Given the description of an element on the screen output the (x, y) to click on. 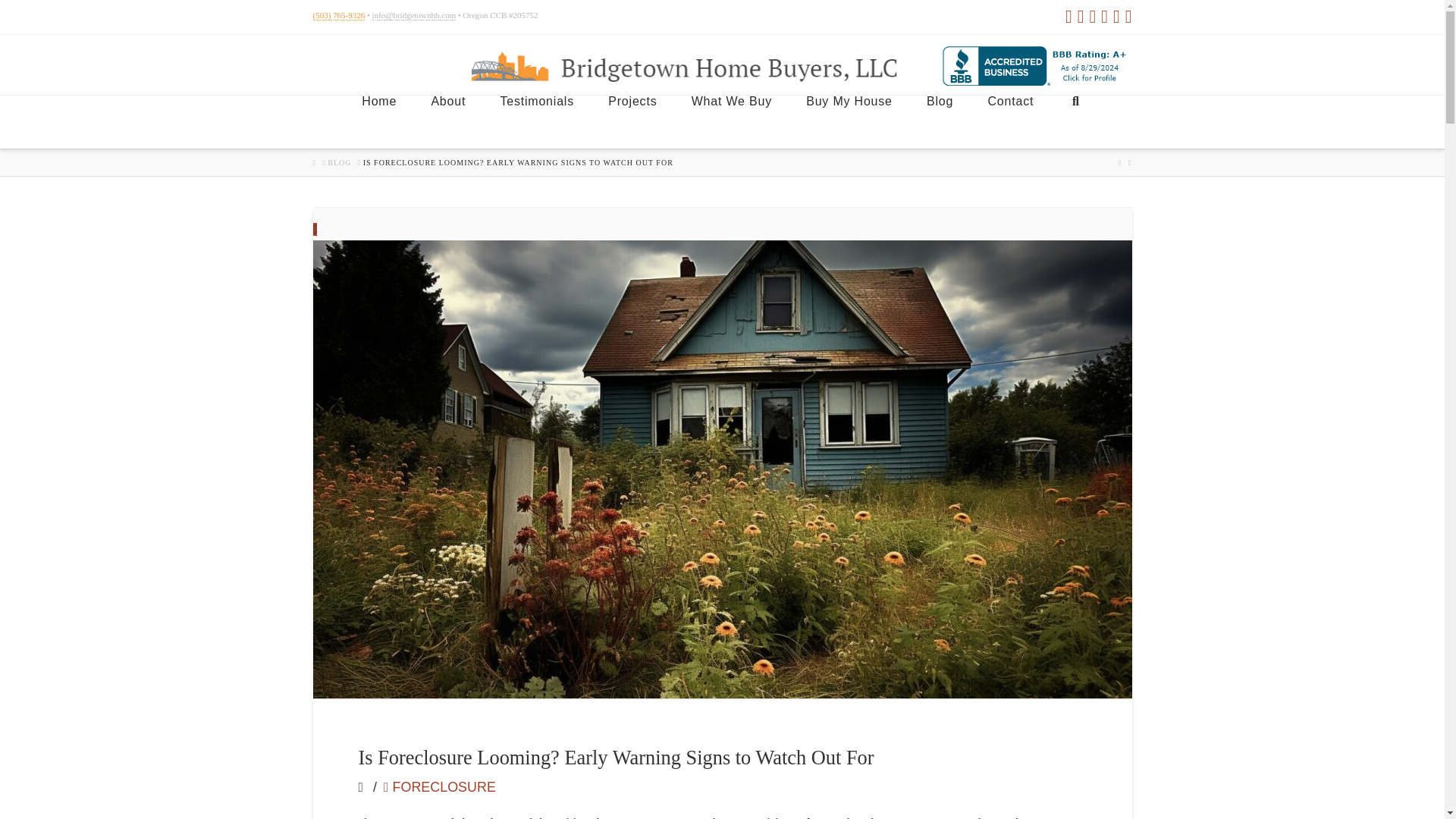
IS FORECLOSURE LOOMING? EARLY WARNING SIGNS TO WATCH OUT FOR (517, 163)
Blog (938, 121)
Contact (1009, 121)
BLOG (338, 163)
Projects (631, 121)
Home (378, 121)
Buy My House (848, 121)
FORECLOSURE (440, 786)
You Are Here (517, 163)
Testimonials (536, 121)
